Given the description of an element on the screen output the (x, y) to click on. 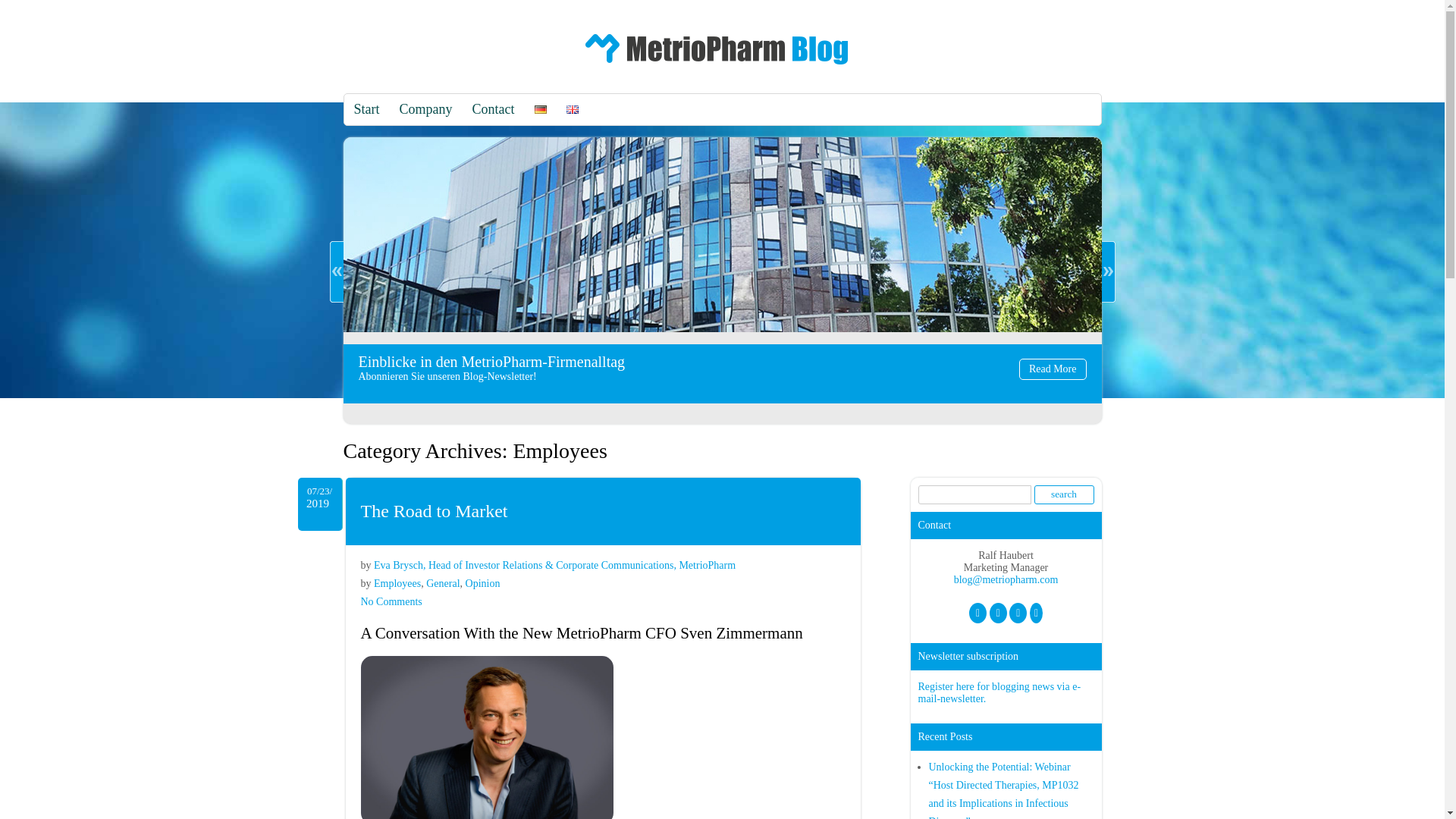
search (391, 601)
MetrioPharm-Blog (1063, 494)
Company (716, 67)
General (426, 109)
search (443, 583)
Permalink to The Road to Market (1063, 494)
Employees (434, 510)
Opinion (397, 583)
Start (482, 583)
Contact (366, 109)
Register here for blogging news via e-mail-newsletter. (493, 109)
The Road to Market (998, 692)
Read More (434, 510)
